Given the description of an element on the screen output the (x, y) to click on. 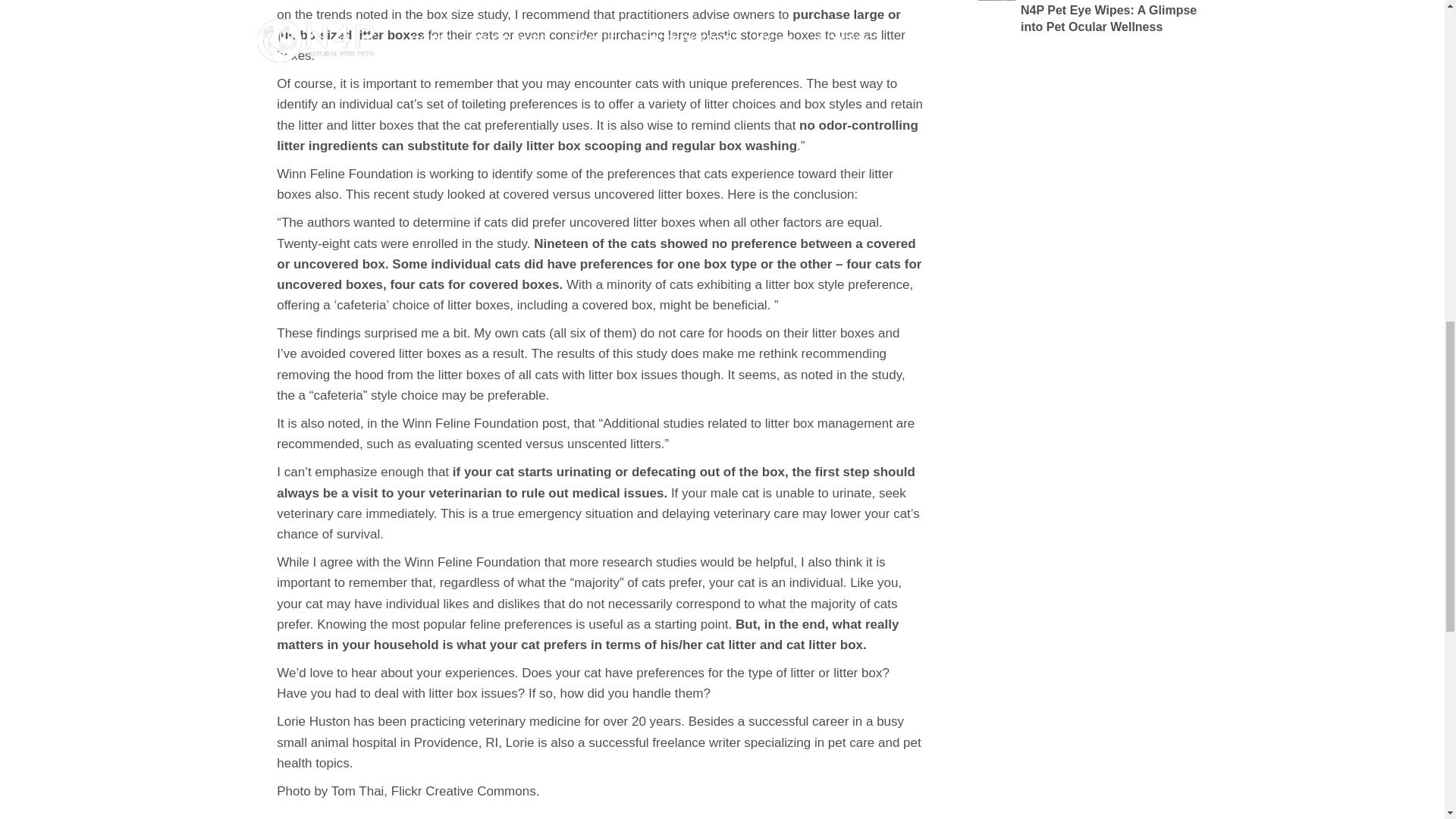
N4P Pet Eye Wipes: A Glimpse into Pet Ocular Wellness (1088, 18)
